Given the description of an element on the screen output the (x, y) to click on. 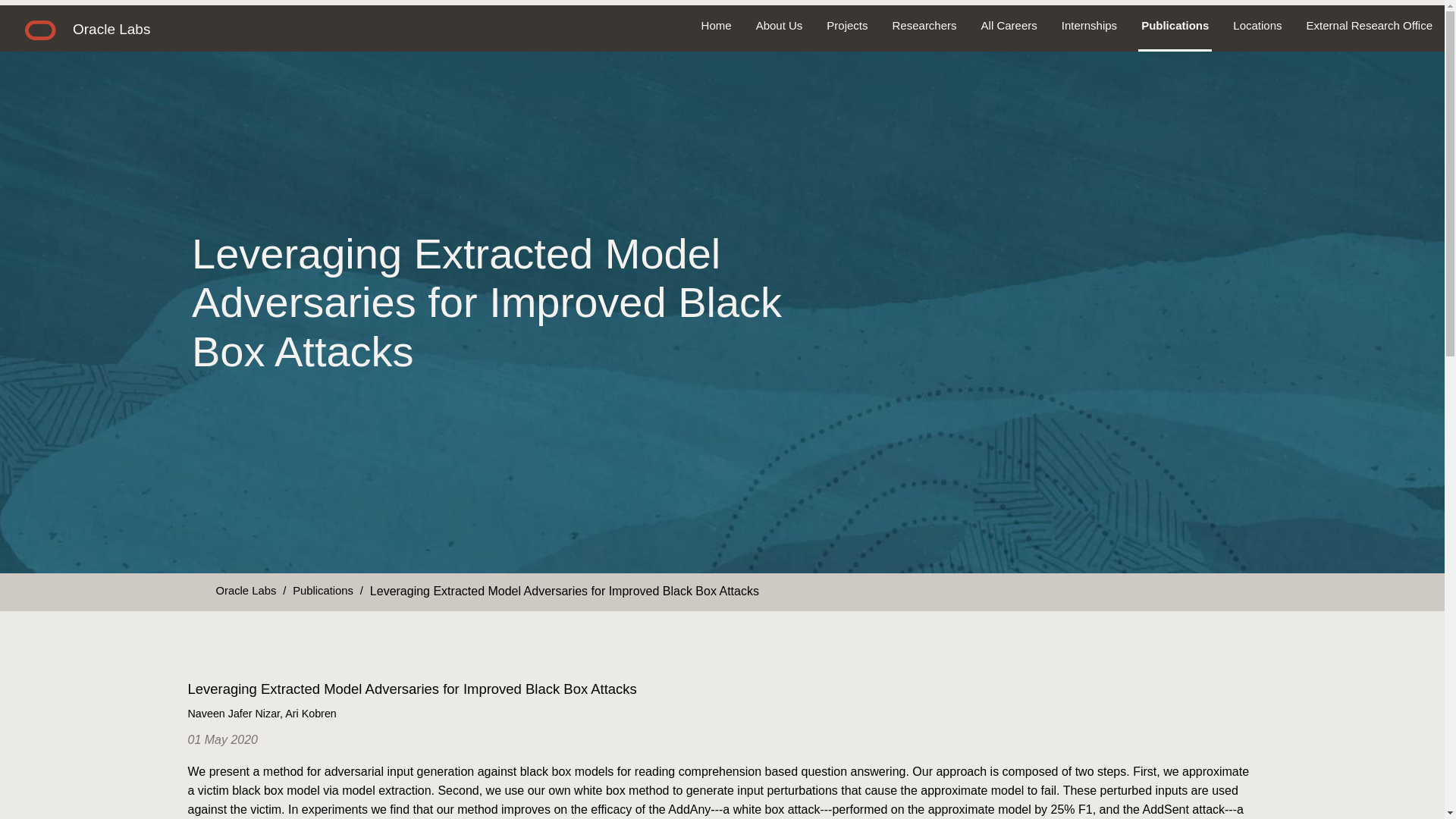
All Careers (1009, 25)
Oracle Labs (111, 29)
Publications (1175, 25)
Home (716, 25)
Internships (1089, 25)
Publications (322, 590)
Researchers (924, 25)
About Us (779, 25)
Locations (1257, 25)
Oracle Labs (245, 590)
Projects (846, 25)
